Given the description of an element on the screen output the (x, y) to click on. 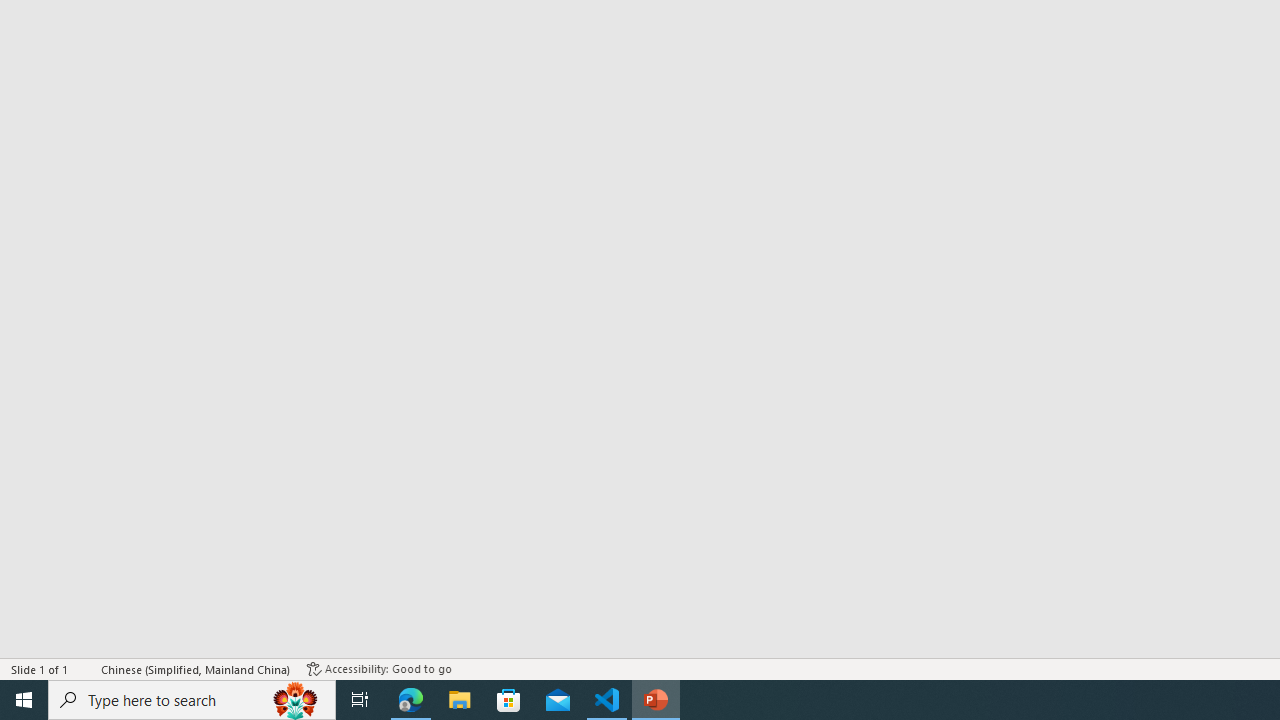
Spell Check  (86, 668)
